Given the description of an element on the screen output the (x, y) to click on. 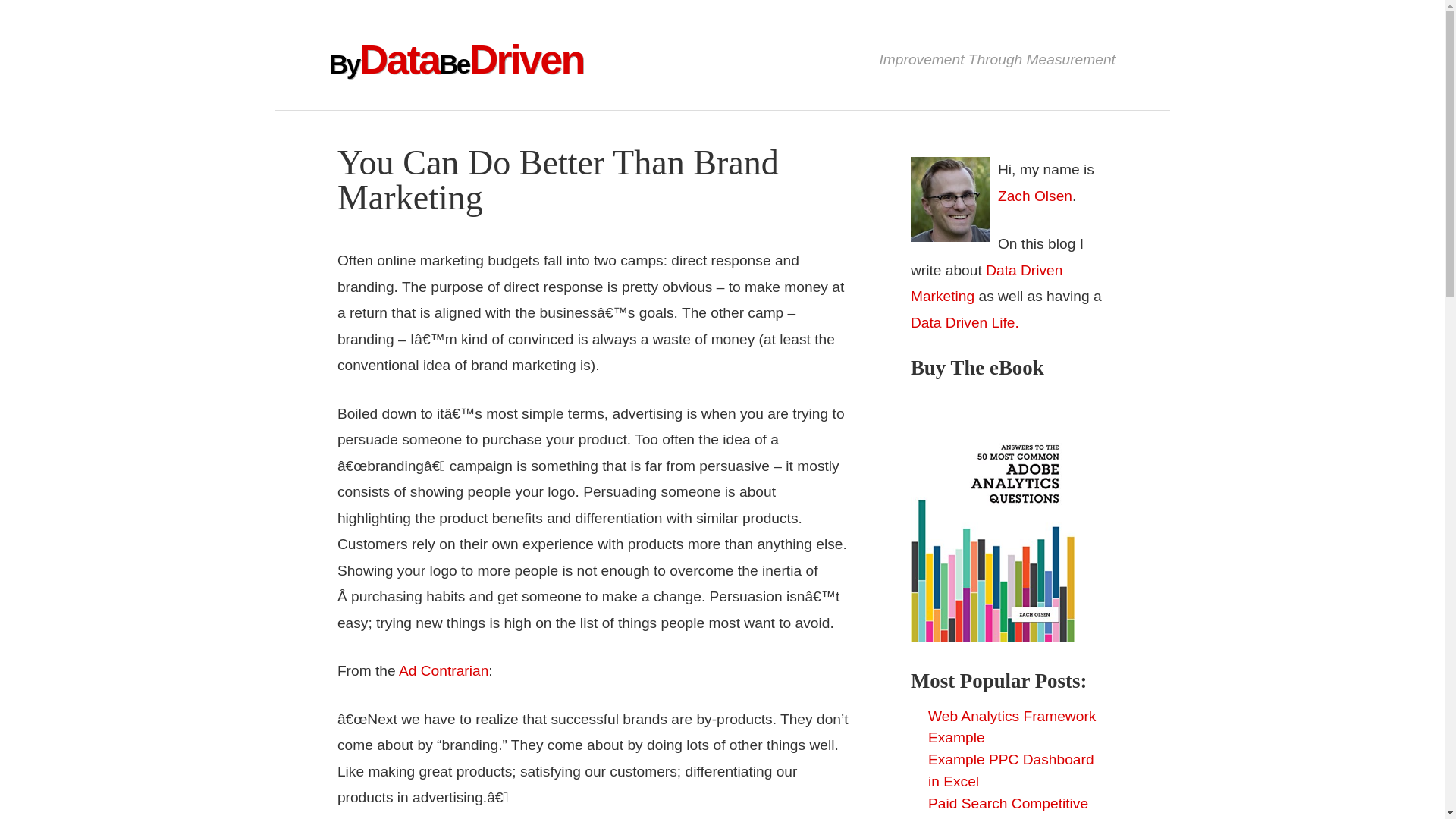
Zach Olsen (1034, 195)
Example PPC Dashboard in Excel (1011, 770)
Data Driven Marketing (986, 283)
Ad Contrarian (442, 670)
ByDataBeDriven (456, 58)
Web Analytics Framework Example (1012, 727)
By Data Be Driven (456, 58)
Example PPC Dashboard in Excel (1011, 770)
Data Driven Life. (965, 322)
Web Analytics Framework Example (1012, 727)
